Given the description of an element on the screen output the (x, y) to click on. 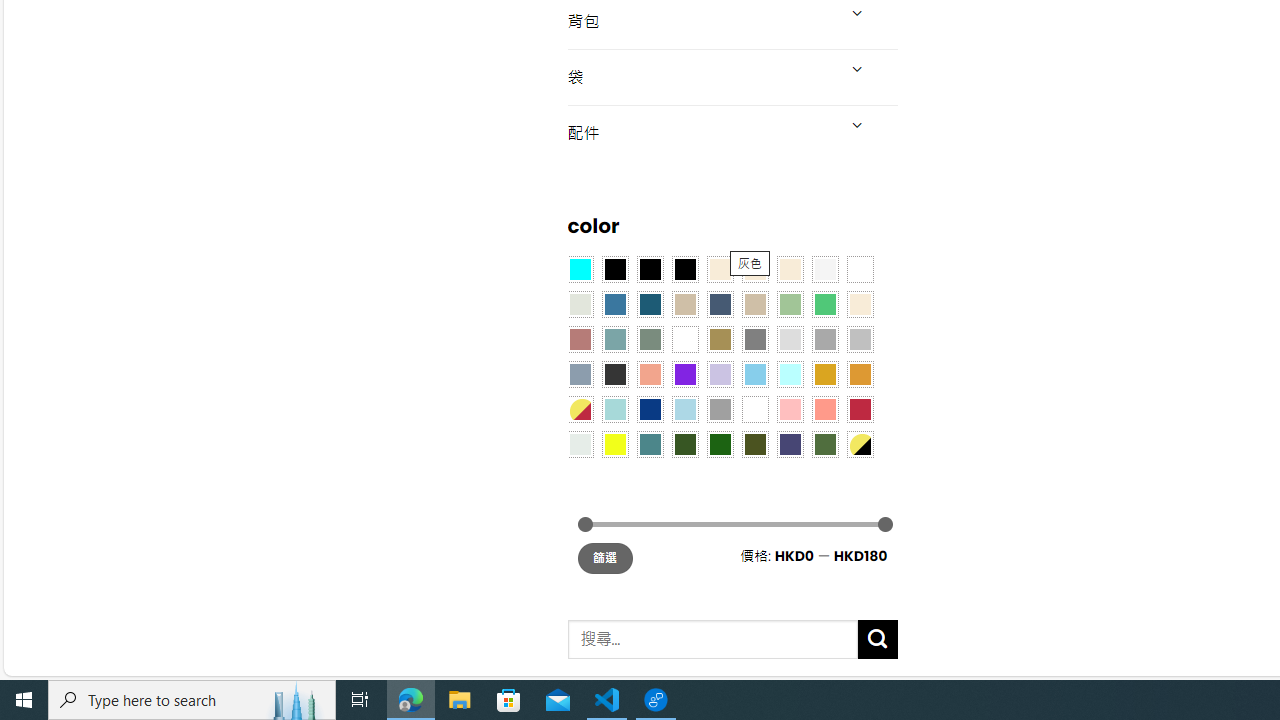
Cream (789, 269)
Dull Nickle (579, 444)
